Given the description of an element on the screen output the (x, y) to click on. 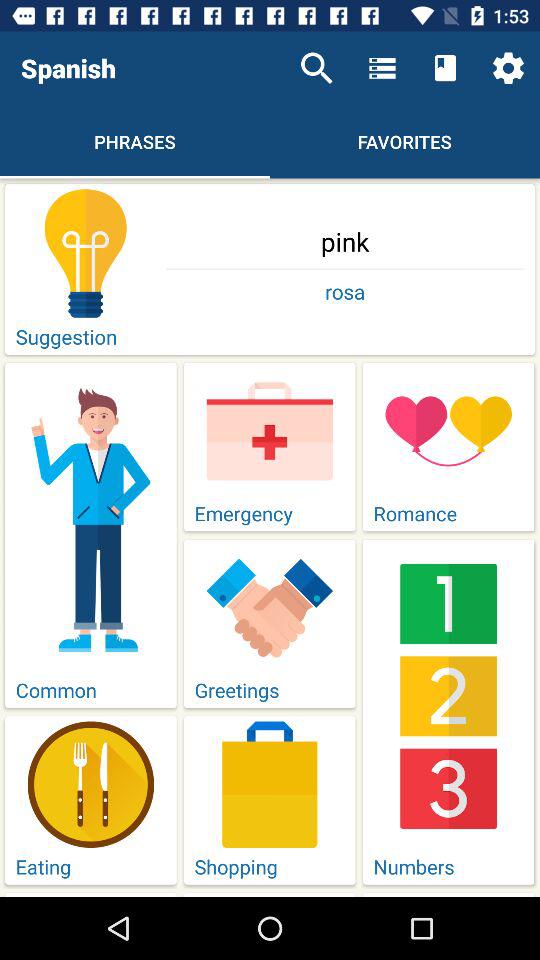
launch icon above pink icon (316, 67)
